Given the description of an element on the screen output the (x, y) to click on. 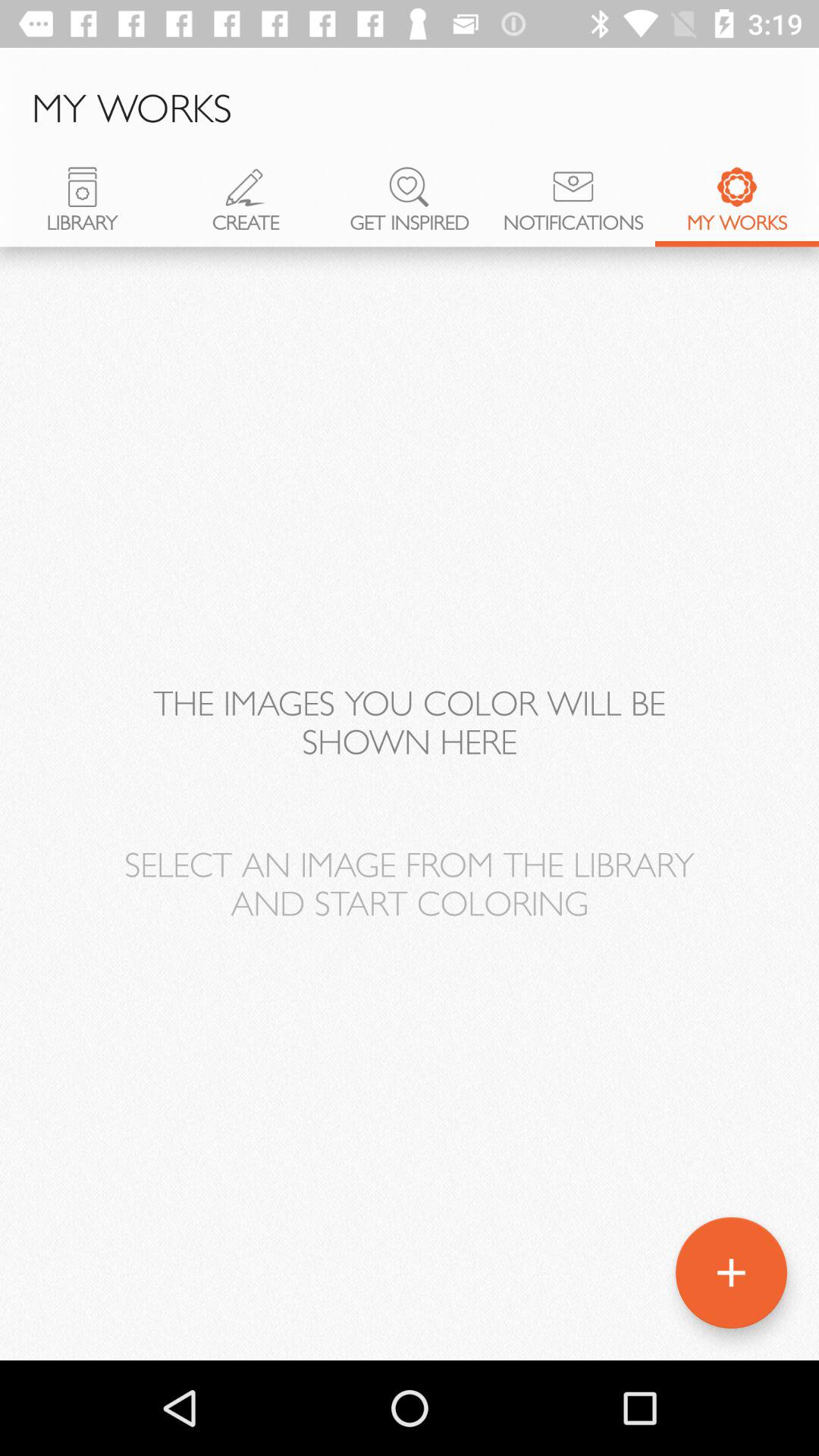
select the tab notifications on the web page (573, 207)
